Given the description of an element on the screen output the (x, y) to click on. 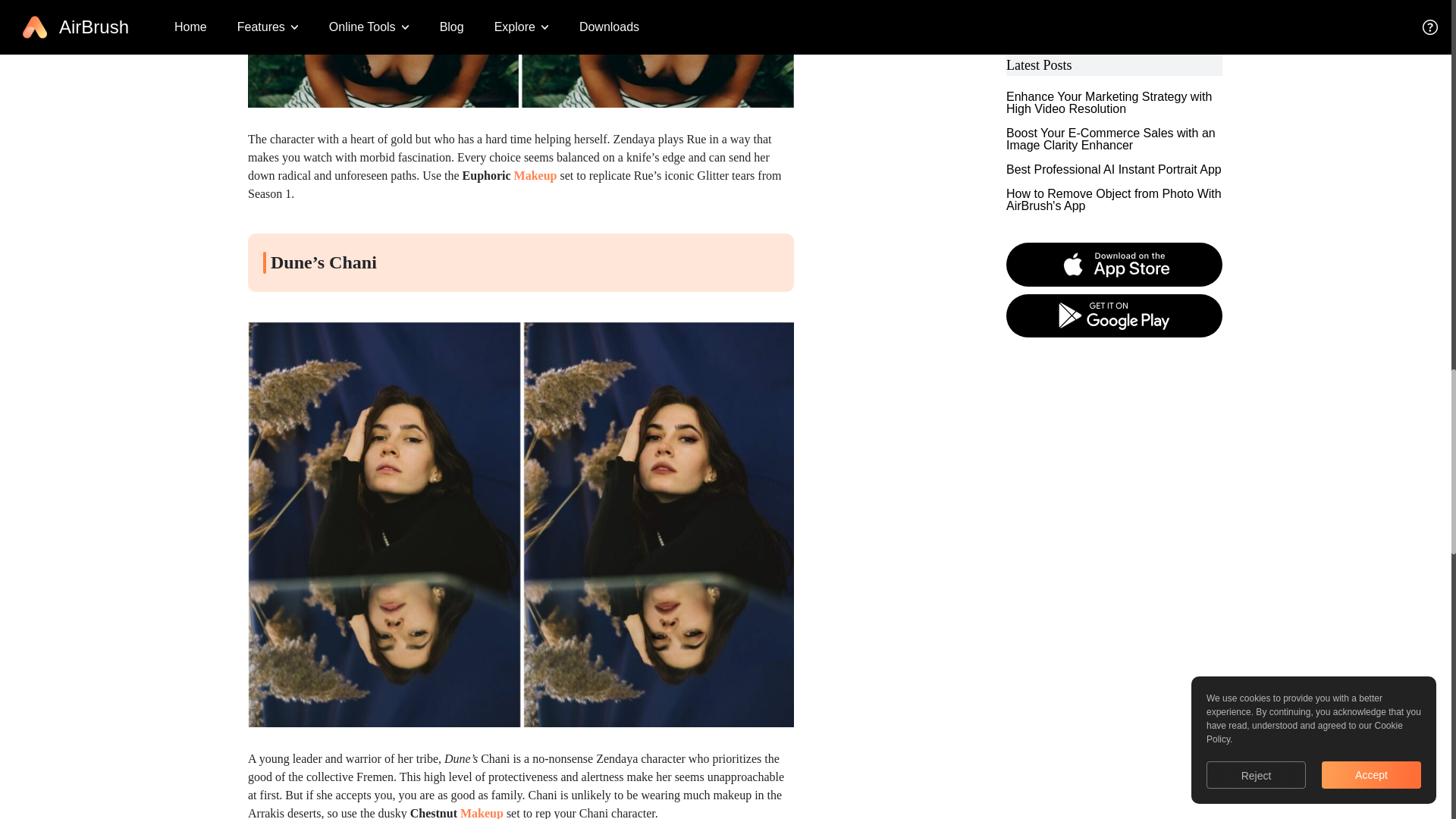
Makeup (535, 174)
Makeup (481, 812)
